Given the description of an element on the screen output the (x, y) to click on. 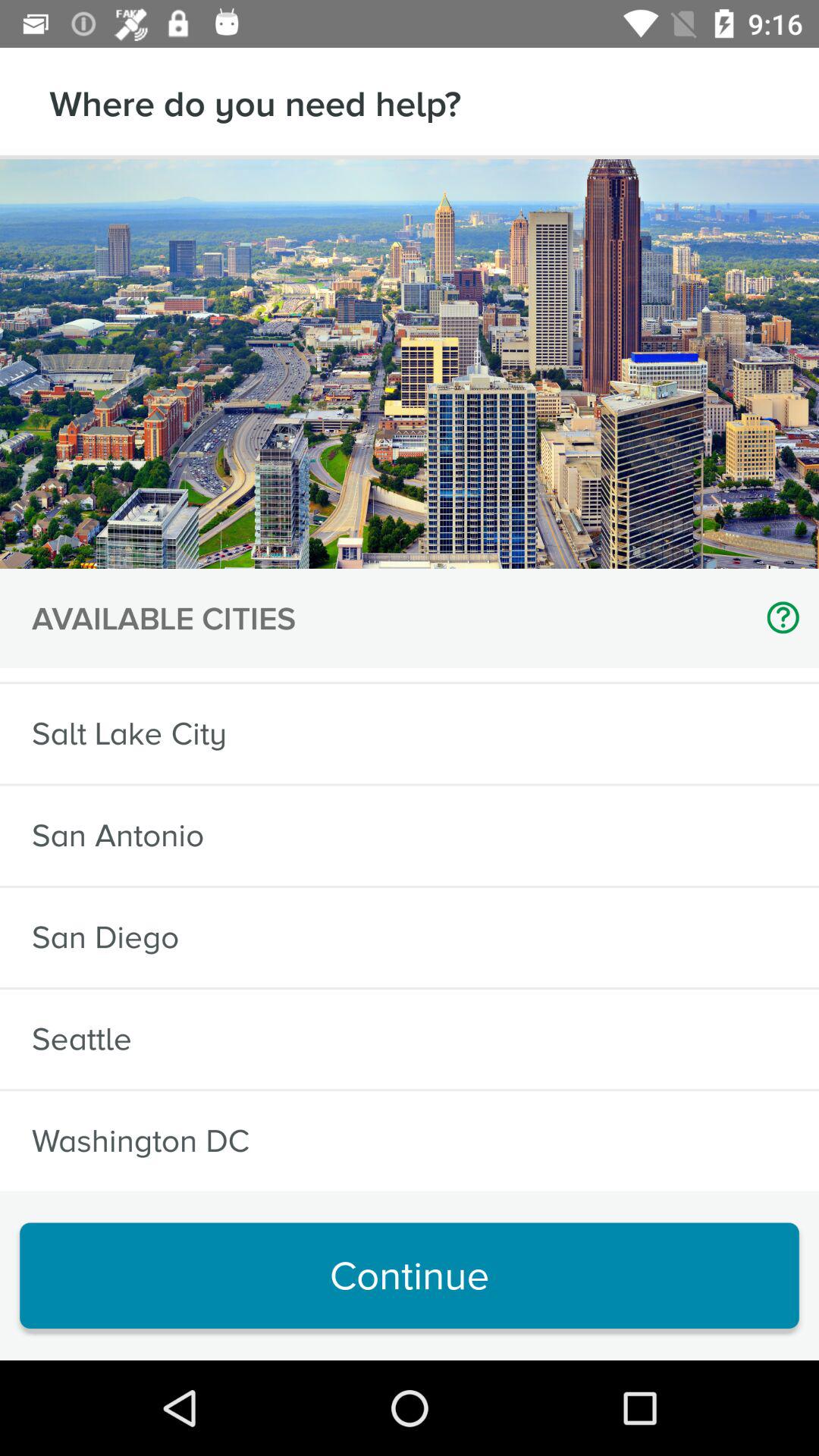
turn off salt lake city (128, 733)
